Given the description of an element on the screen output the (x, y) to click on. 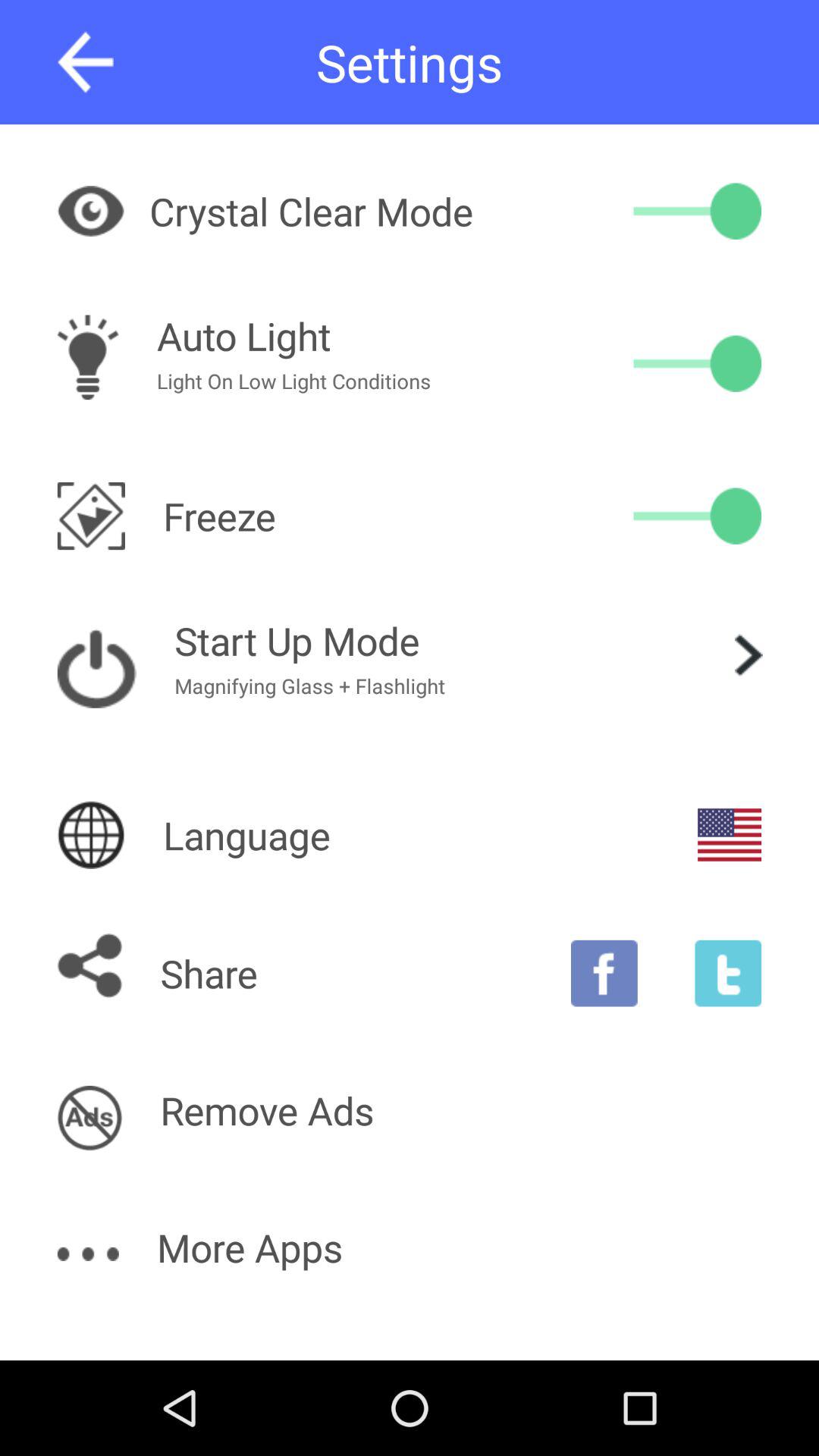
launch the item next to light on low icon (697, 363)
